Given the description of an element on the screen output the (x, y) to click on. 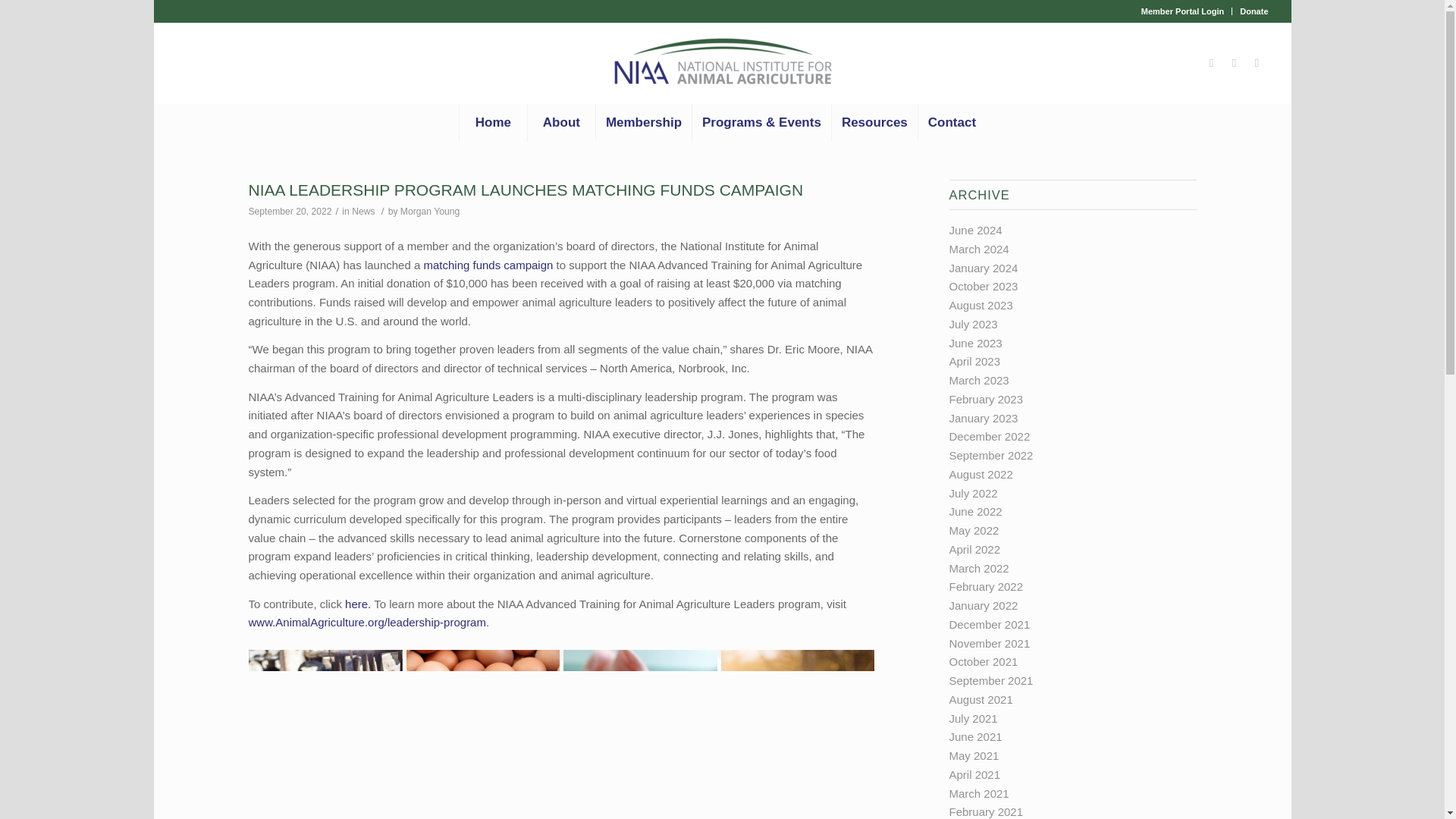
News (363, 211)
here. (358, 603)
Posts by Morgan Young (430, 211)
Membership (643, 122)
Resources (874, 122)
Home (492, 122)
NIAA LEADERSHIP PROGRAM LAUNCHES MATCHING FUNDS CAMPAIGN (525, 189)
Morgan Young (430, 211)
About (561, 122)
